Given the description of an element on the screen output the (x, y) to click on. 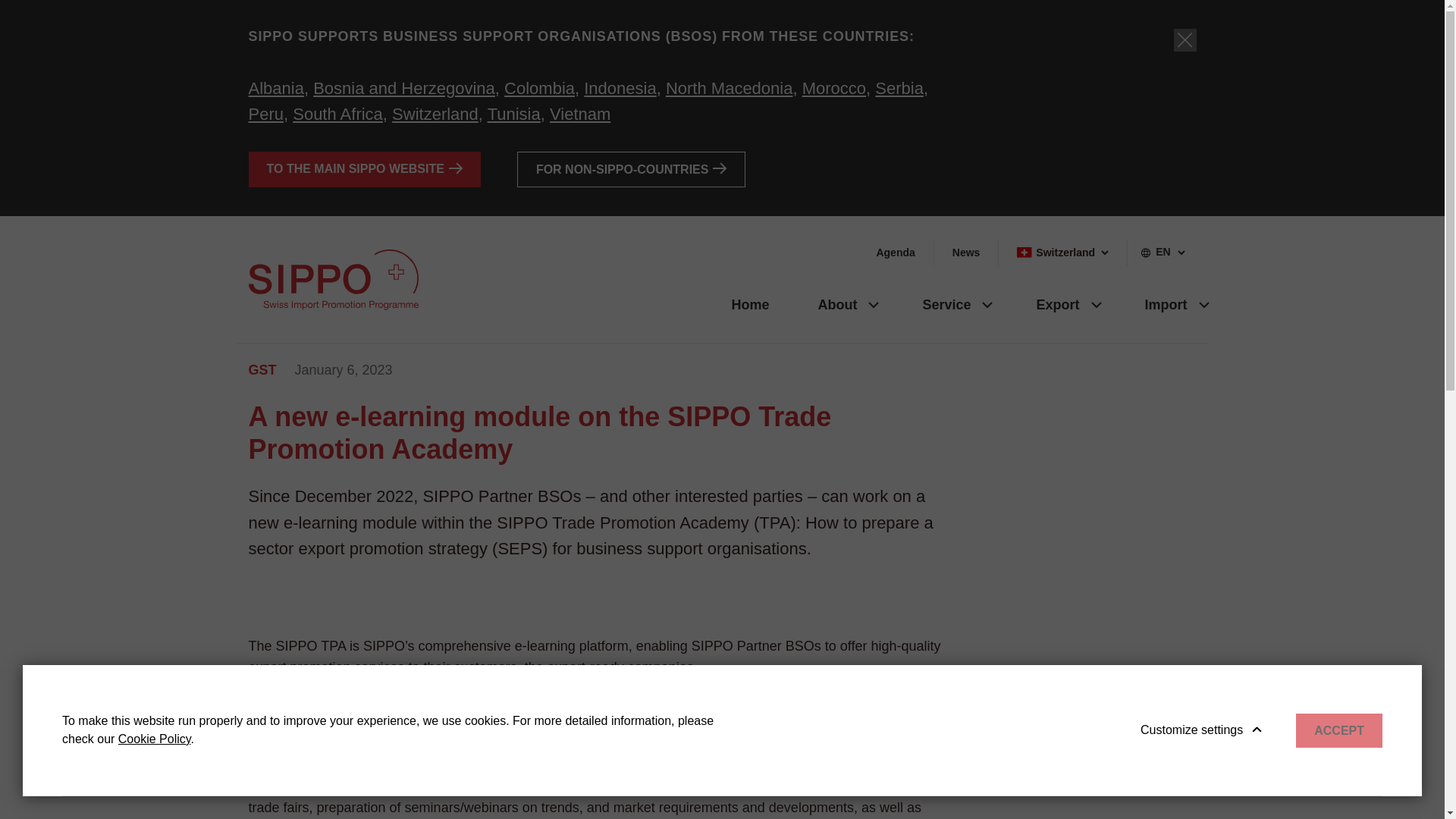
EN  (1167, 252)
Indonesia (619, 87)
Albania (276, 87)
Export (1050, 304)
News (966, 252)
Tunisia (513, 113)
Home (749, 304)
South Africa (337, 113)
Agenda (895, 252)
Import (1159, 304)
TO THE MAIN SIPPO WEBSITE (364, 169)
Morocco (834, 87)
Switzerland (1062, 252)
Serbia (899, 87)
Home (749, 304)
